Given the description of an element on the screen output the (x, y) to click on. 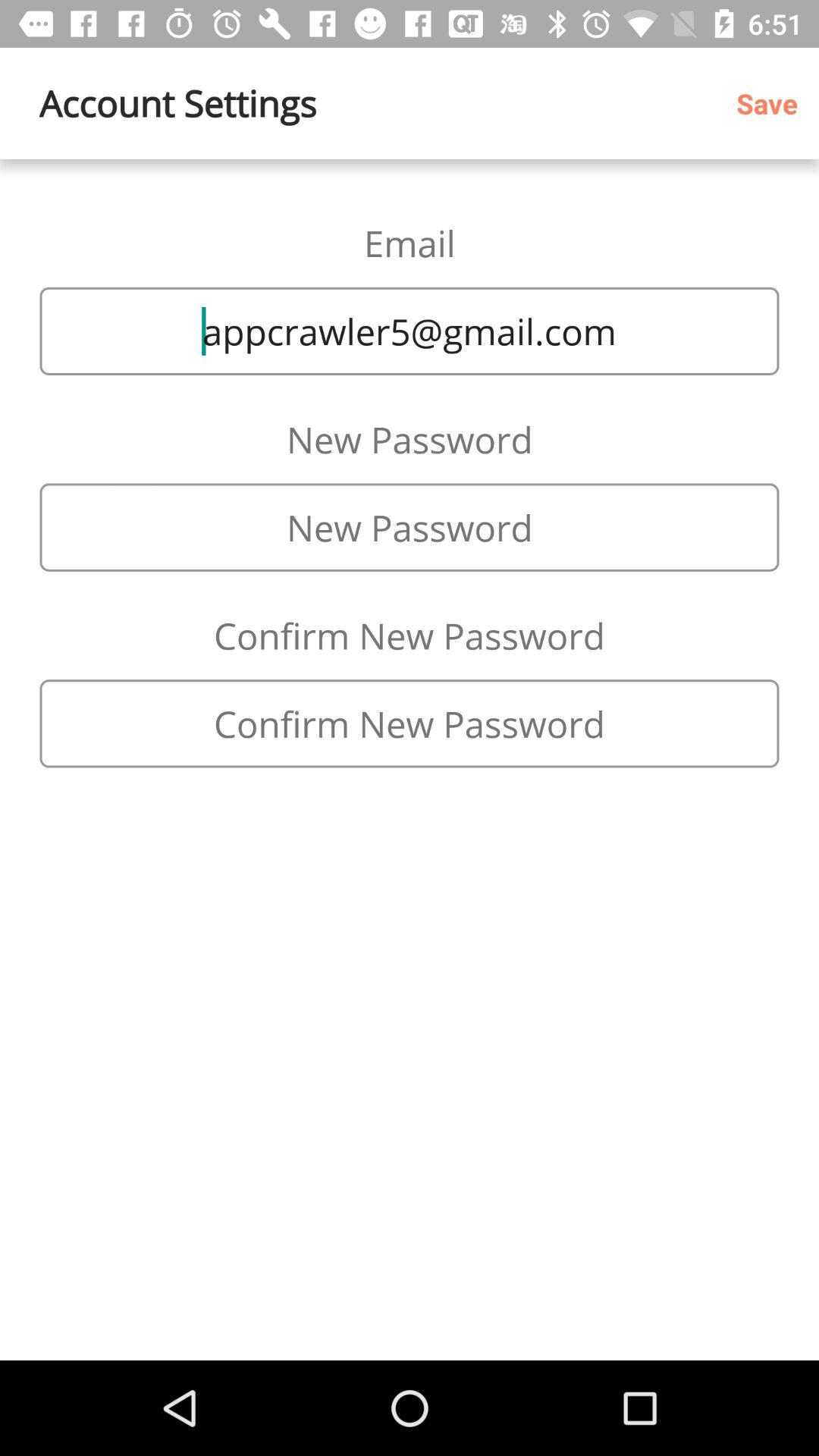
enter new password (409, 527)
